Given the description of an element on the screen output the (x, y) to click on. 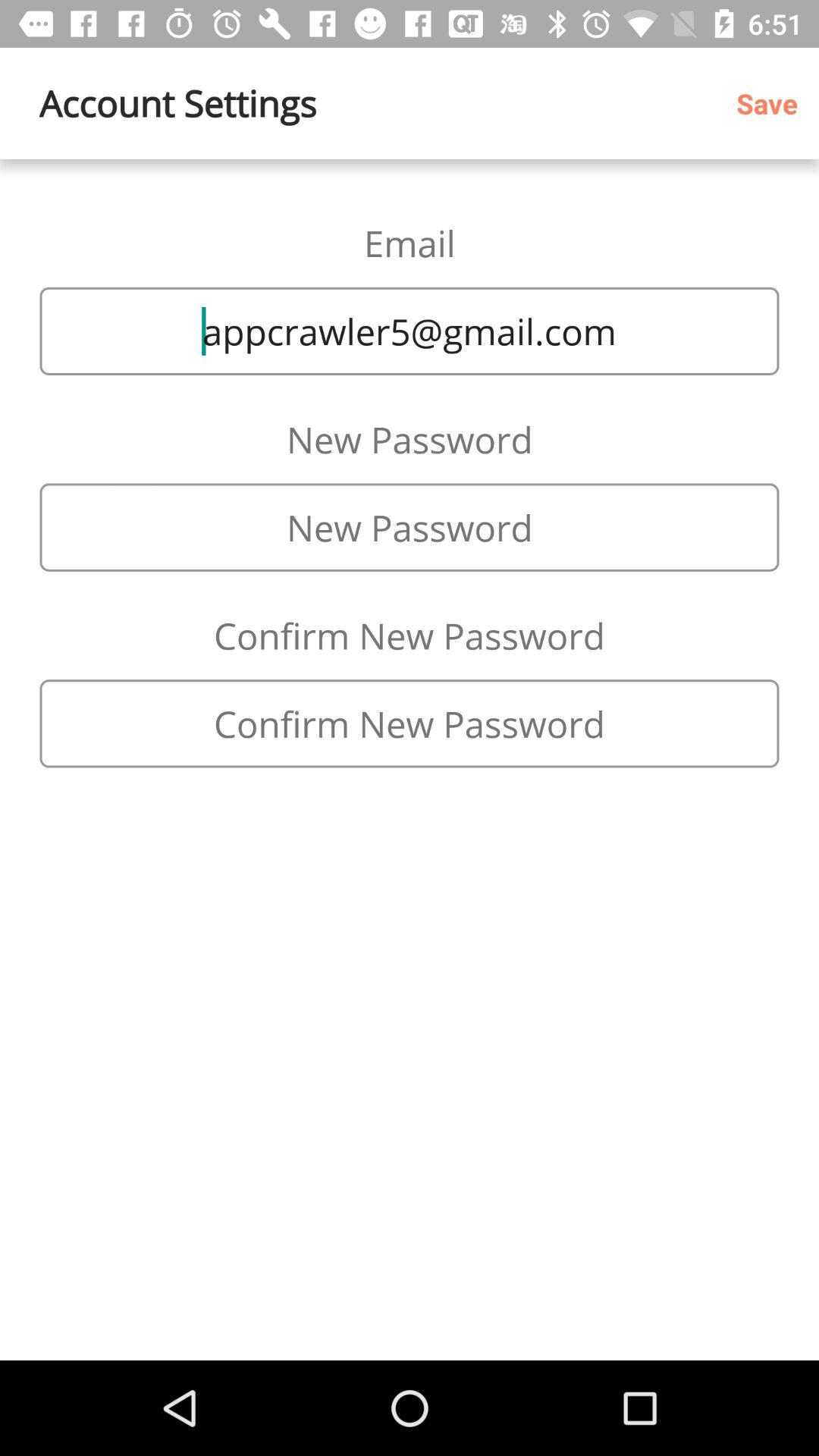
enter new password (409, 527)
